Given the description of an element on the screen output the (x, y) to click on. 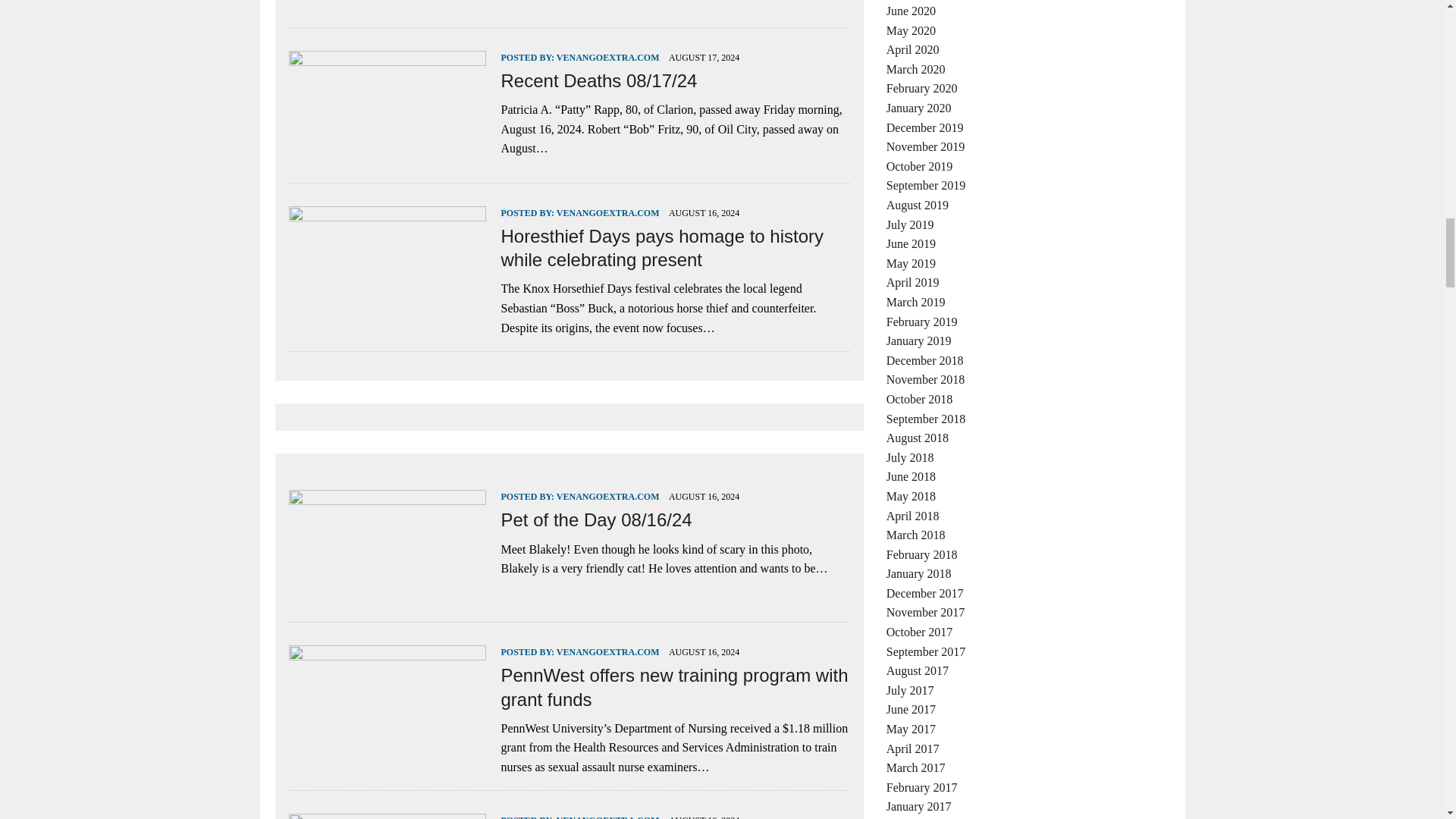
Buttermilk Chicken Kebabs (386, 1)
